Given the description of an element on the screen output the (x, y) to click on. 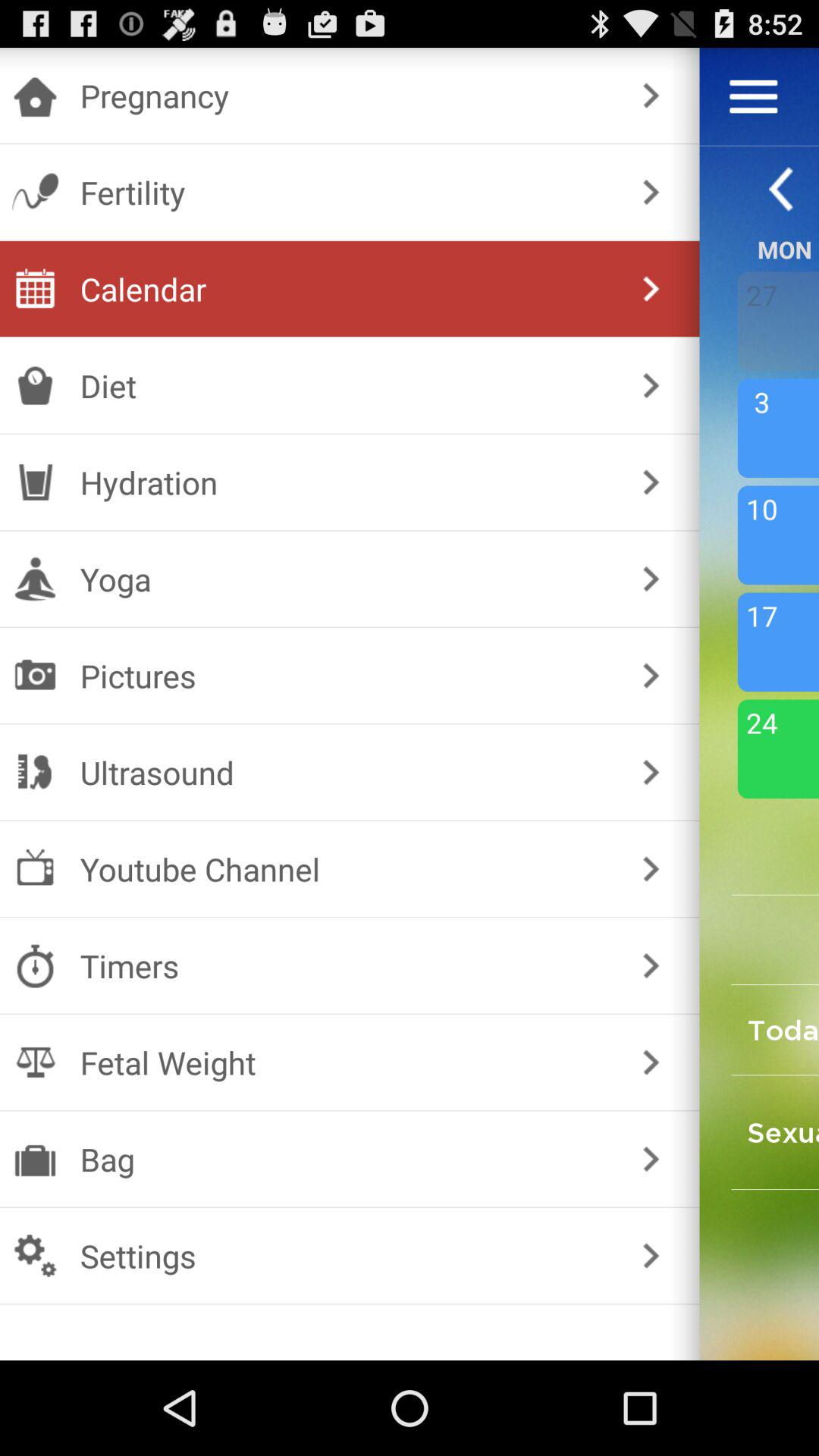
press the item above the timers (651, 868)
